Given the description of an element on the screen output the (x, y) to click on. 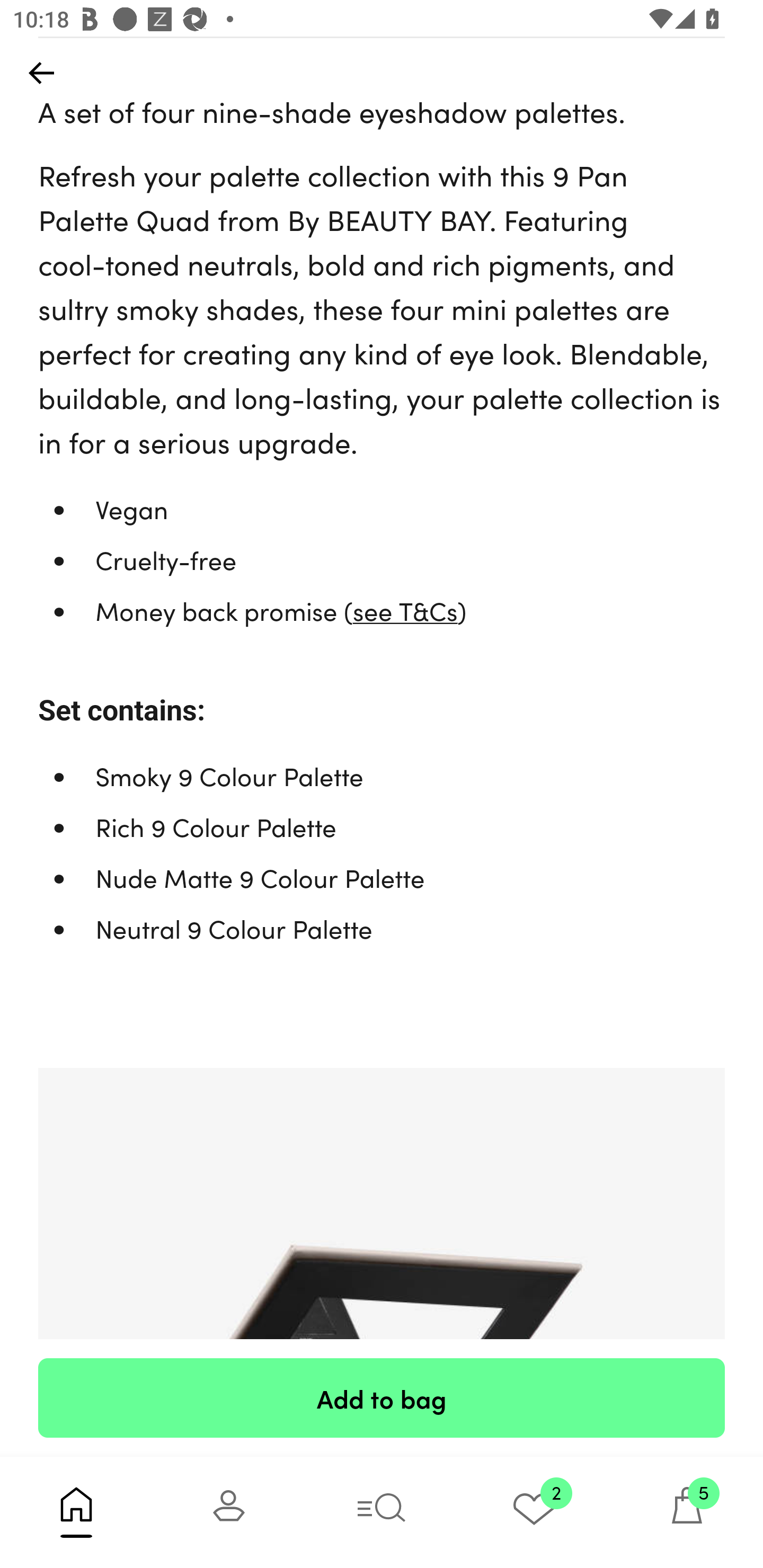
Add to bag (381, 1397)
2 (533, 1512)
5 (686, 1512)
